Given the description of an element on the screen output the (x, y) to click on. 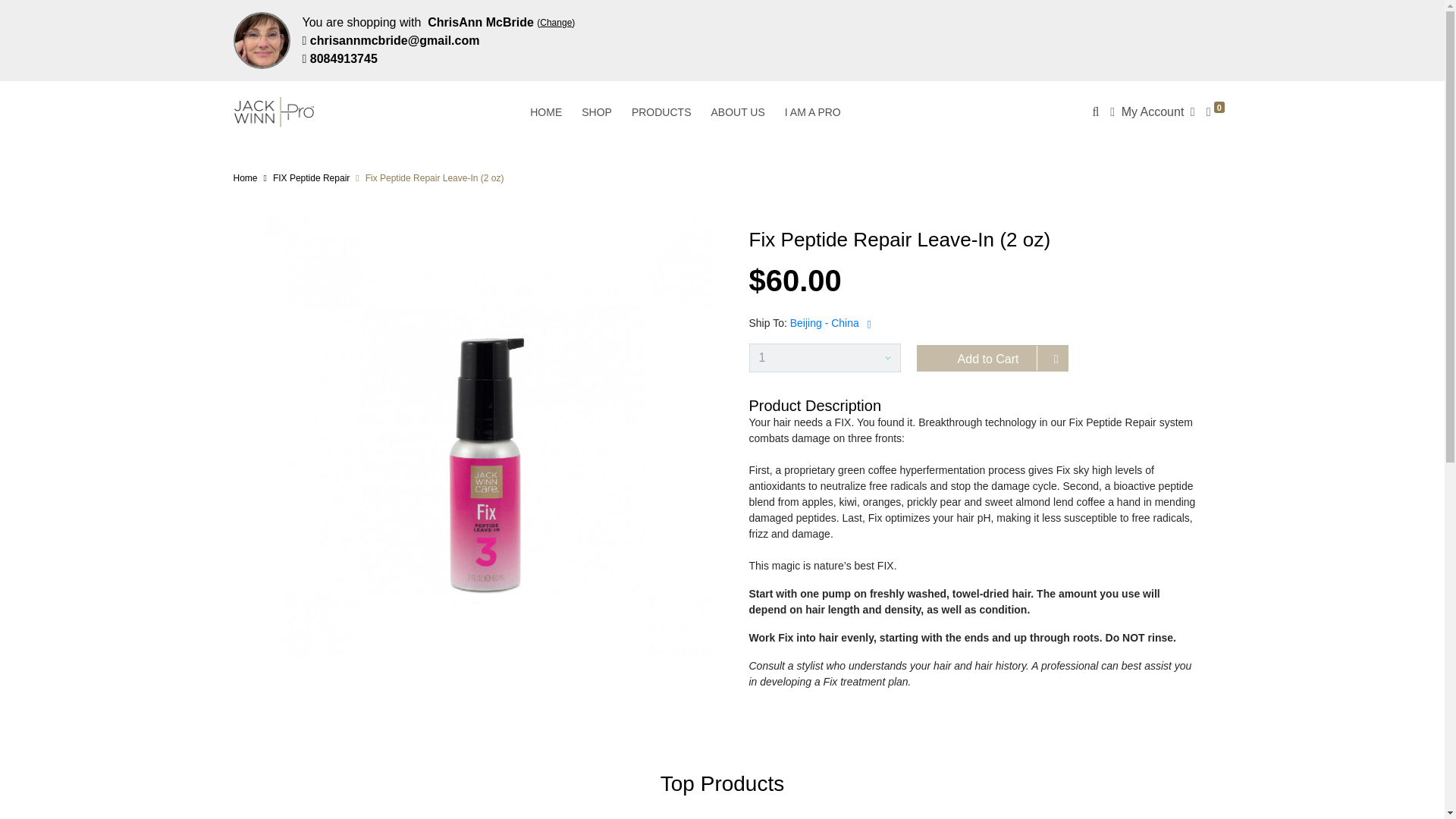
Home (244, 177)
Beijing - China (824, 323)
PRODUCTS (661, 112)
FIX Peptide Repair (311, 177)
SHOP (596, 112)
ABOUT US (737, 112)
HOME (545, 112)
Change (556, 21)
Add to Cart (991, 357)
My Account (1151, 111)
